Given the description of an element on the screen output the (x, y) to click on. 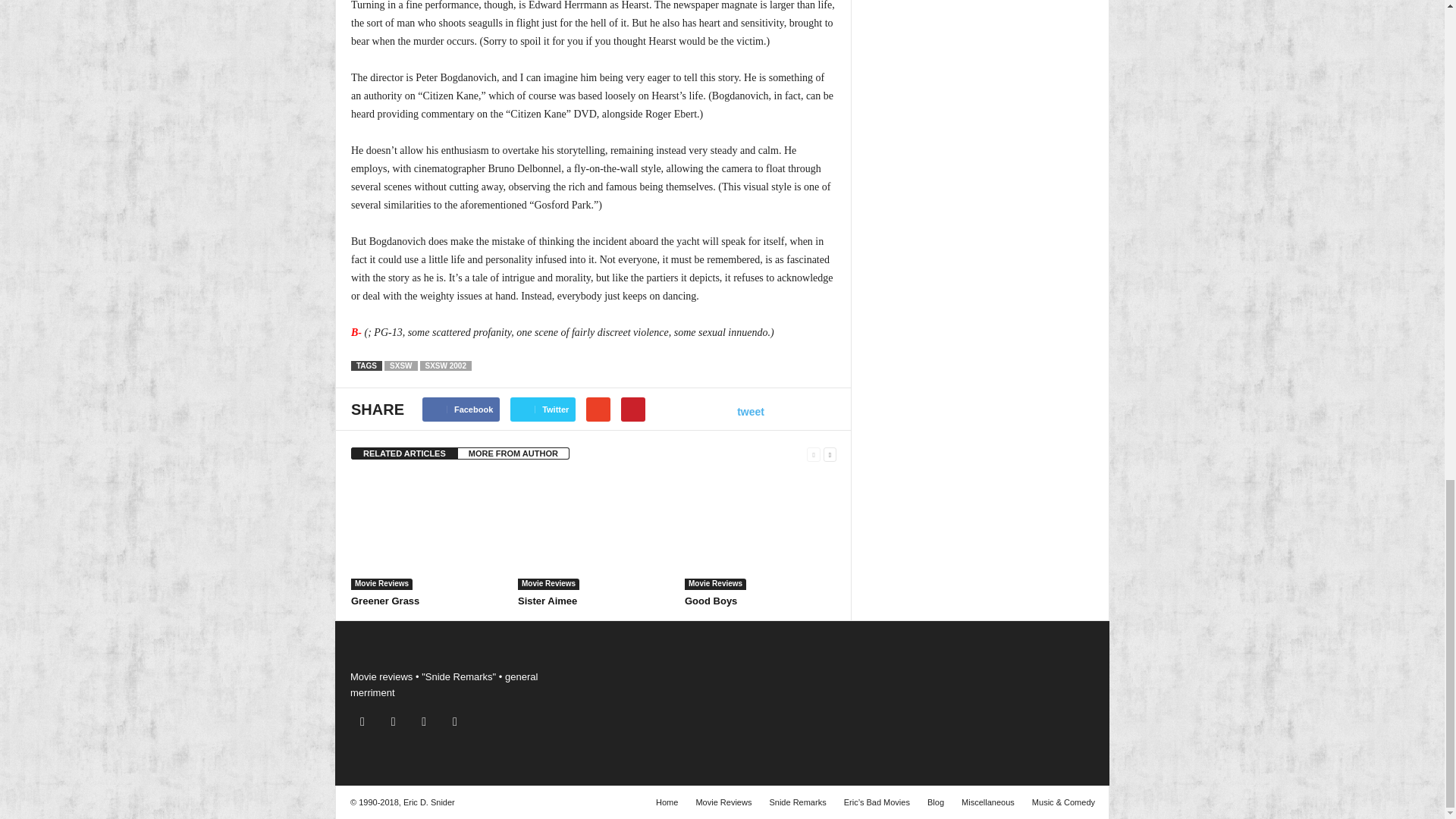
Good Boys (759, 532)
Good Boys (710, 600)
Sister Aimee (547, 600)
Greener Grass (384, 600)
Greener Grass (426, 532)
Sister Aimee (593, 532)
